Given the description of an element on the screen output the (x, y) to click on. 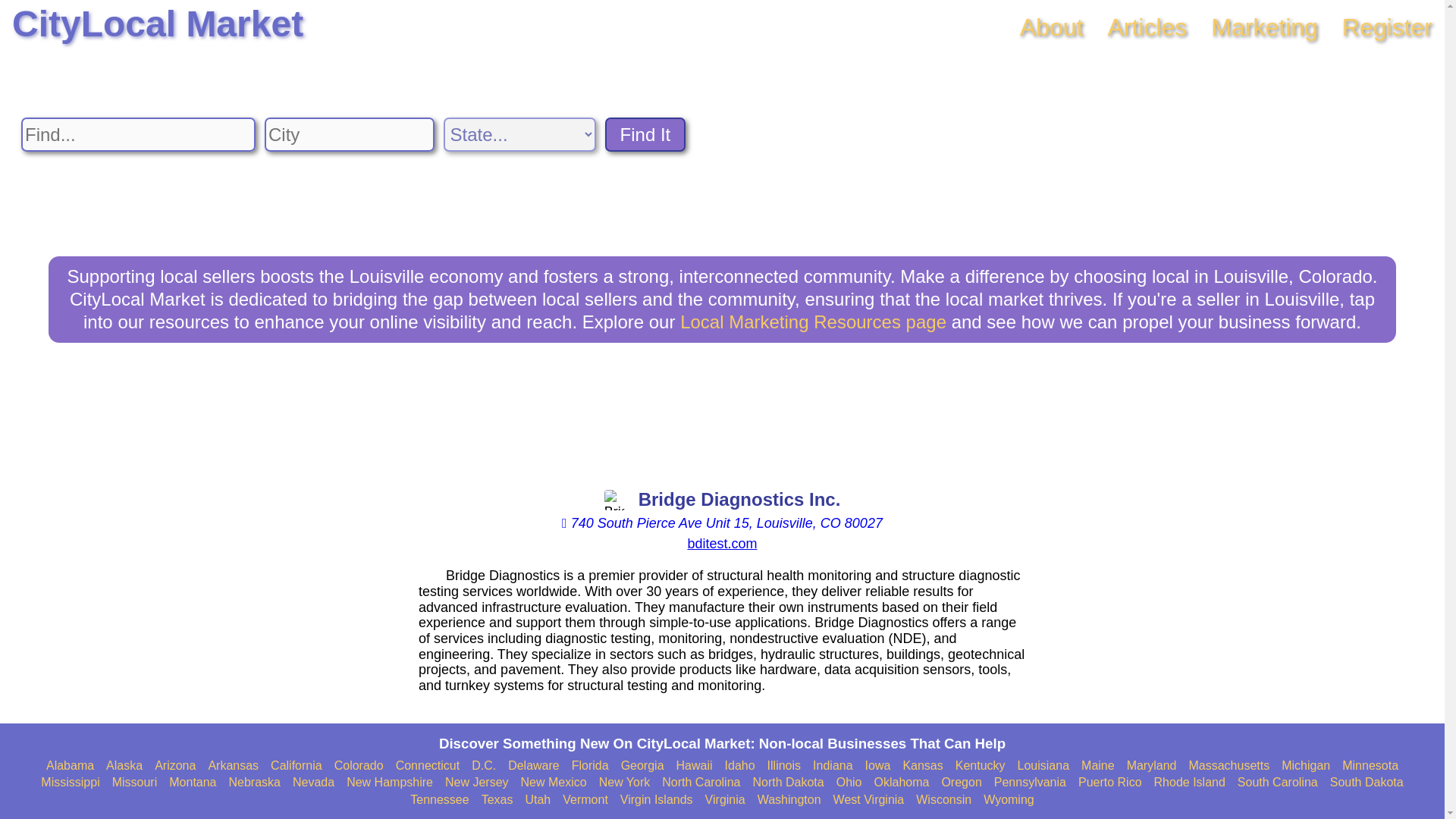
Iowa (877, 766)
New Jersey (476, 782)
Nevada (313, 782)
Colorado (359, 766)
Register My Business (1387, 27)
Arizona (174, 766)
Find It (645, 134)
Find Businesses in Connecticut (428, 766)
View on Google Maps (721, 523)
Find Businesses in Idaho (740, 766)
